Given the description of an element on the screen output the (x, y) to click on. 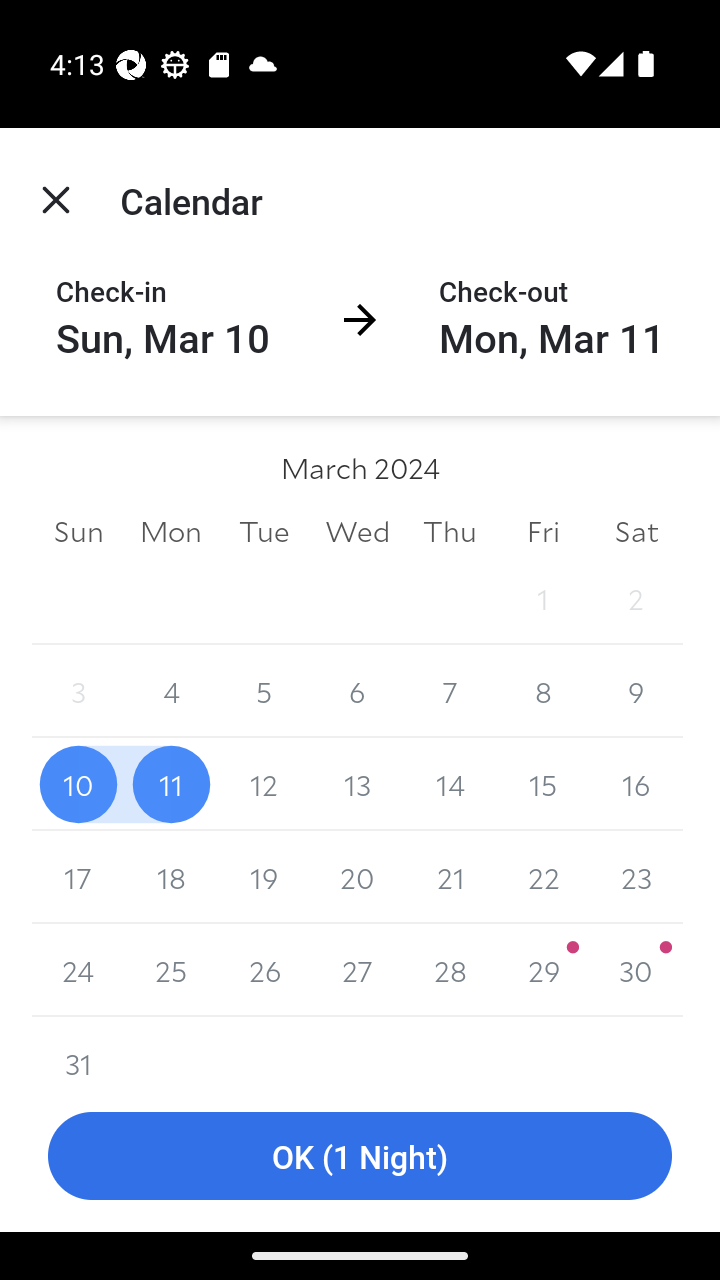
Sun (78, 530)
Mon (171, 530)
Tue (264, 530)
Wed (357, 530)
Thu (449, 530)
Fri (542, 530)
Sat (636, 530)
1 1 March 2024 (542, 598)
2 2 March 2024 (636, 598)
3 3 March 2024 (78, 691)
4 4 March 2024 (171, 691)
5 5 March 2024 (264, 691)
6 6 March 2024 (357, 691)
7 7 March 2024 (449, 691)
8 8 March 2024 (542, 691)
9 9 March 2024 (636, 691)
10 10 March 2024 (78, 784)
11 11 March 2024 (171, 784)
12 12 March 2024 (264, 784)
13 13 March 2024 (357, 784)
14 14 March 2024 (449, 784)
15 15 March 2024 (542, 784)
16 16 March 2024 (636, 784)
17 17 March 2024 (78, 877)
18 18 March 2024 (171, 877)
19 19 March 2024 (264, 877)
20 20 March 2024 (357, 877)
21 21 March 2024 (449, 877)
22 22 March 2024 (542, 877)
23 23 March 2024 (636, 877)
24 24 March 2024 (78, 970)
25 25 March 2024 (171, 970)
26 26 March 2024 (264, 970)
27 27 March 2024 (357, 970)
28 28 March 2024 (449, 970)
29 29 March 2024 (542, 970)
30 30 March 2024 (636, 970)
31 31 March 2024 (78, 1048)
OK (1 Night) (359, 1156)
